Given the description of an element on the screen output the (x, y) to click on. 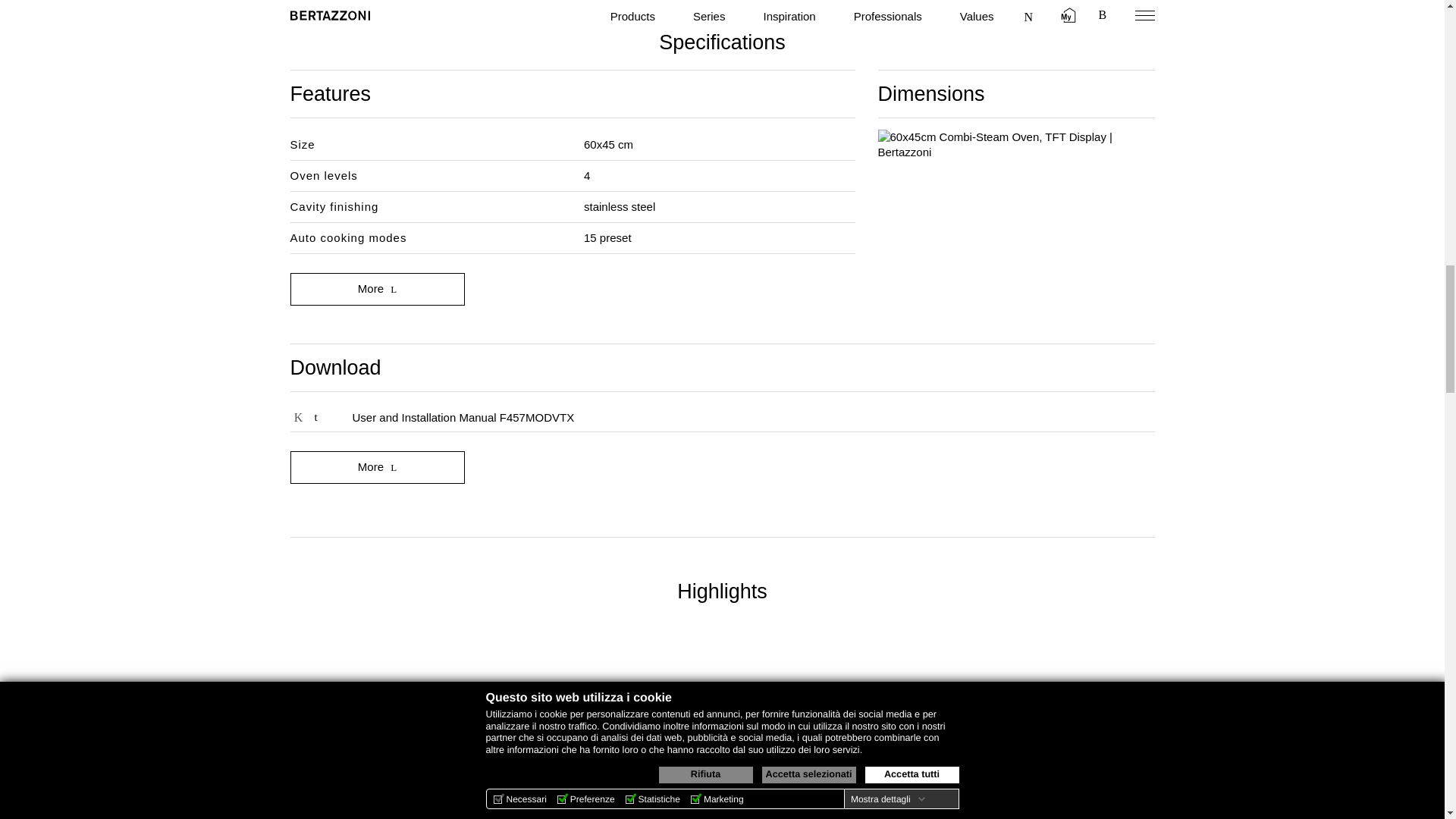
4220 (297, 417)
